Given the description of an element on the screen output the (x, y) to click on. 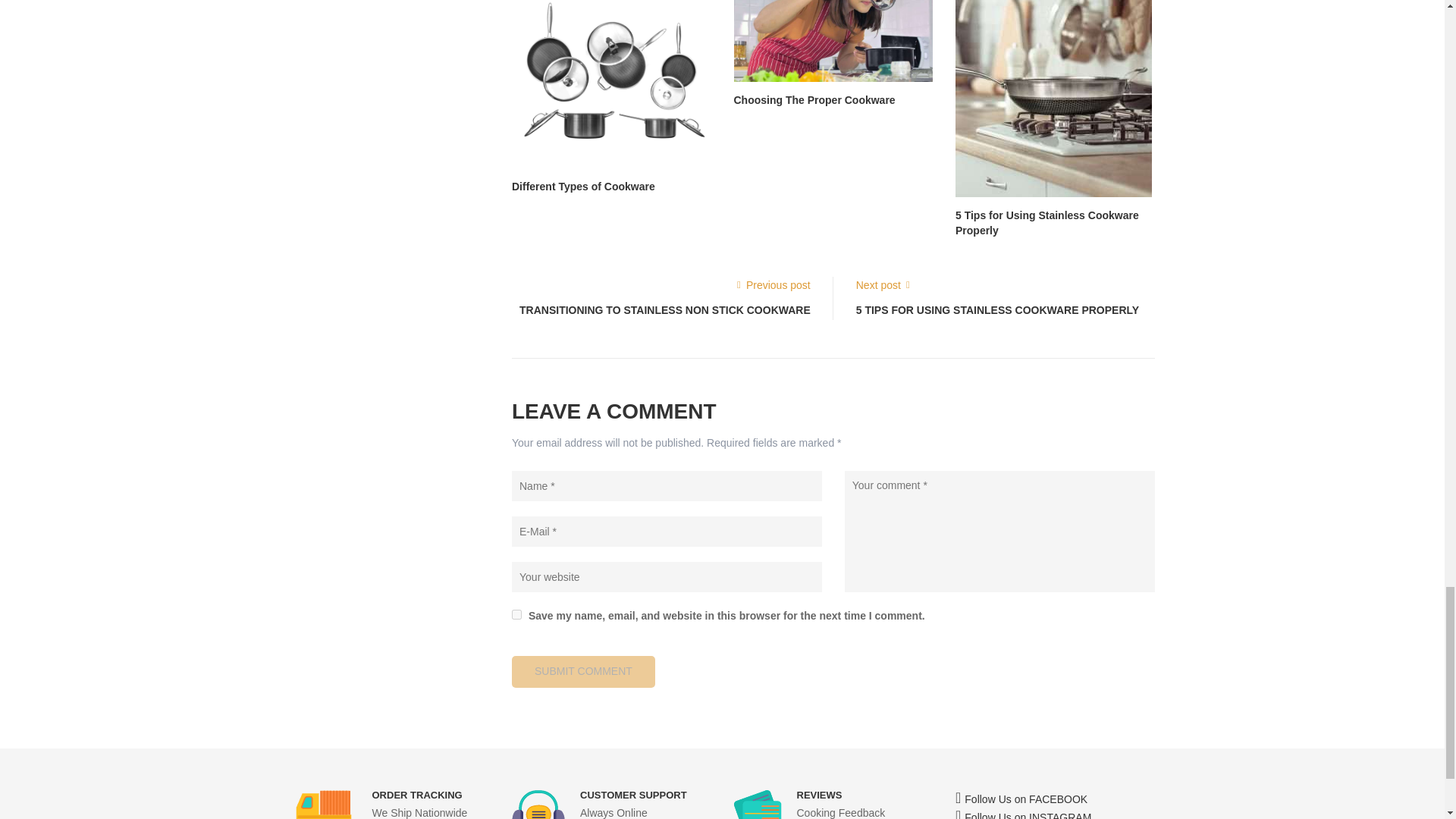
5 Tips for Using Stainless Cookware Properly (1054, 98)
Submit comment (583, 671)
Choosing The Proper Cookware (833, 40)
yes (516, 614)
Different Types of Cookware (611, 84)
